Given the description of an element on the screen output the (x, y) to click on. 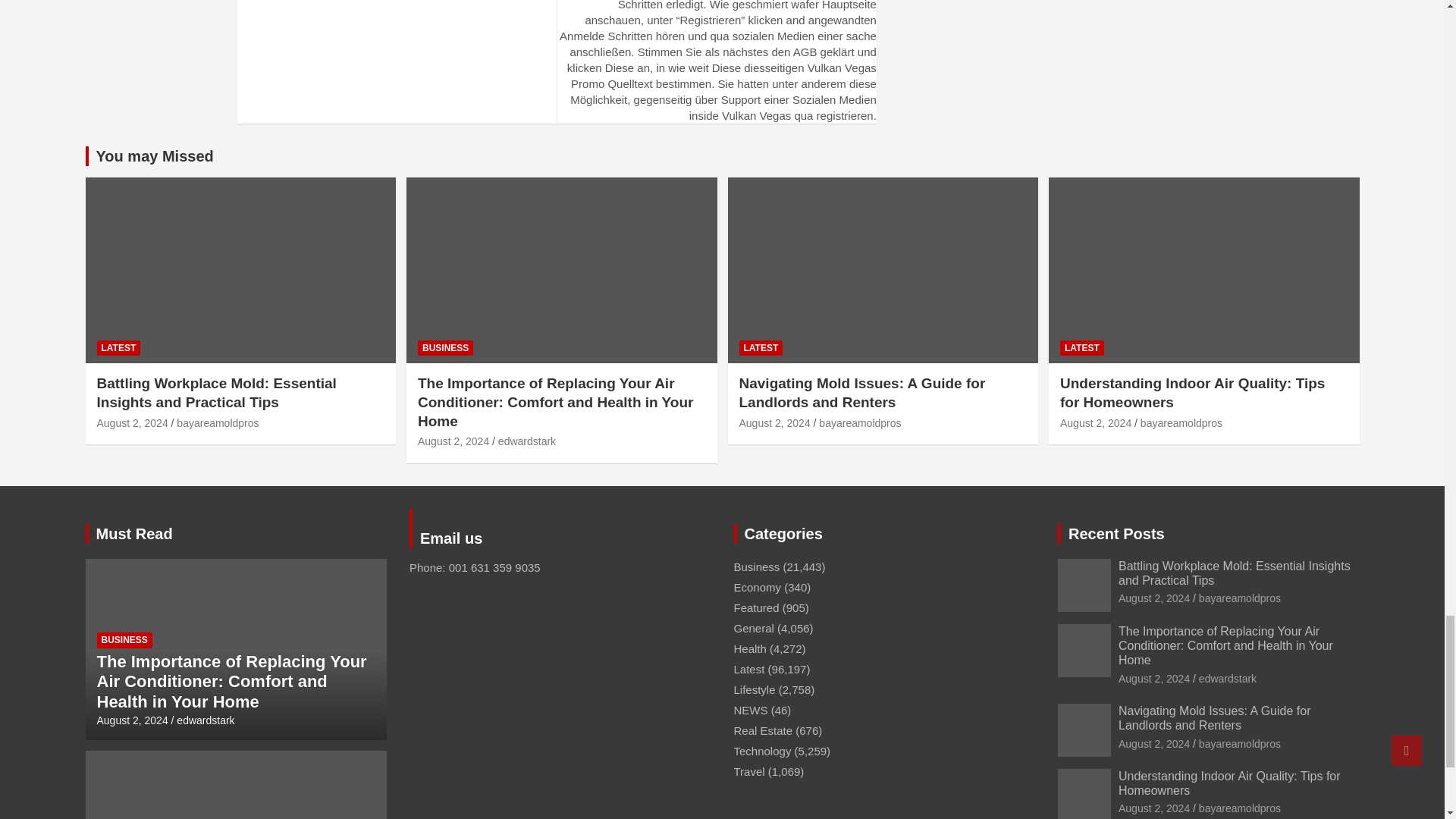
Navigating Mold Issues: A Guide for Landlords and Renters (773, 422)
Understanding Indoor Air Quality: Tips for Homeowners (1095, 422)
